Given the description of an element on the screen output the (x, y) to click on. 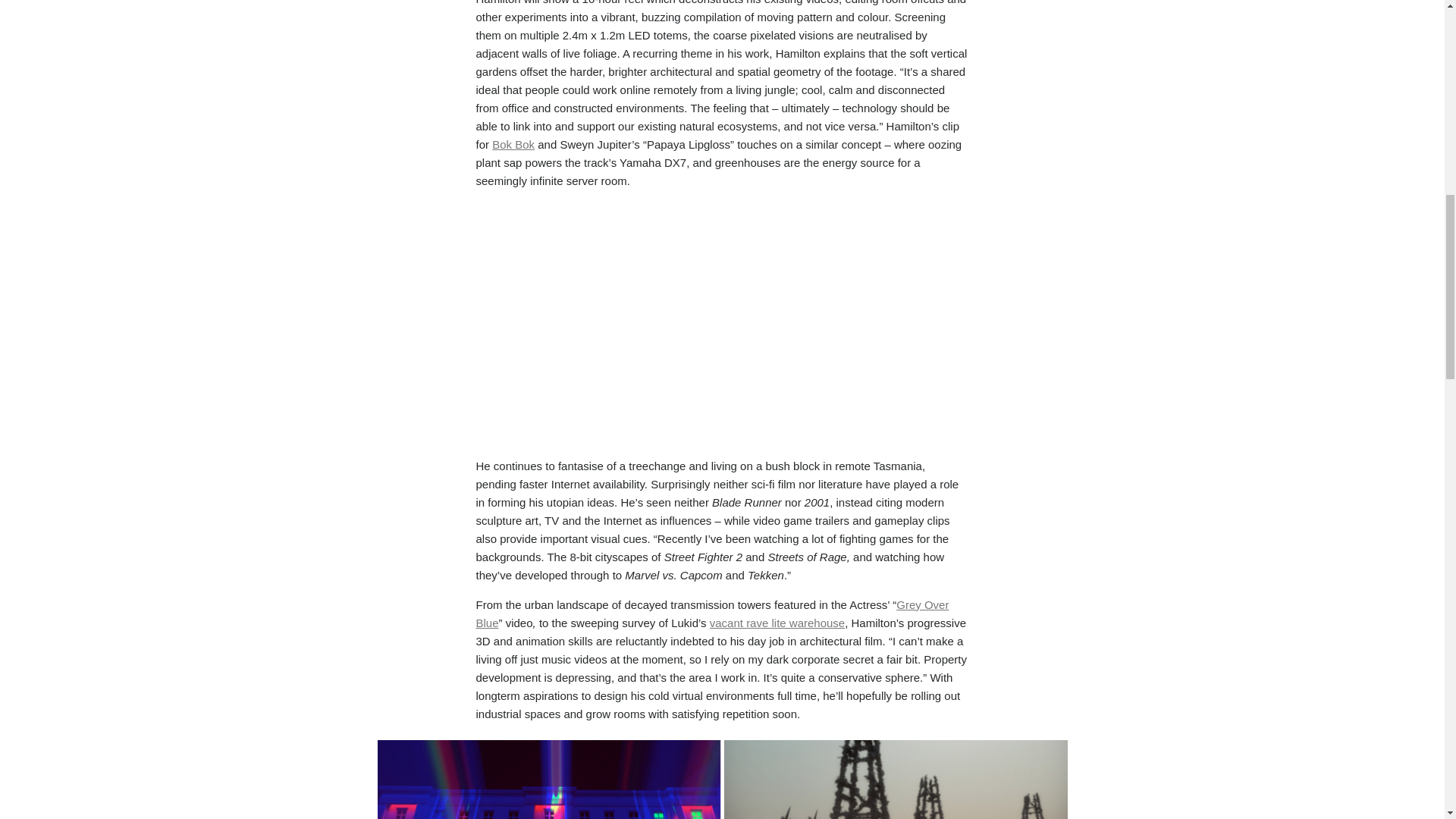
vacant rave lite warehouse (777, 622)
Bok Bok (513, 144)
Grey Over Blue (712, 613)
